Given the description of an element on the screen output the (x, y) to click on. 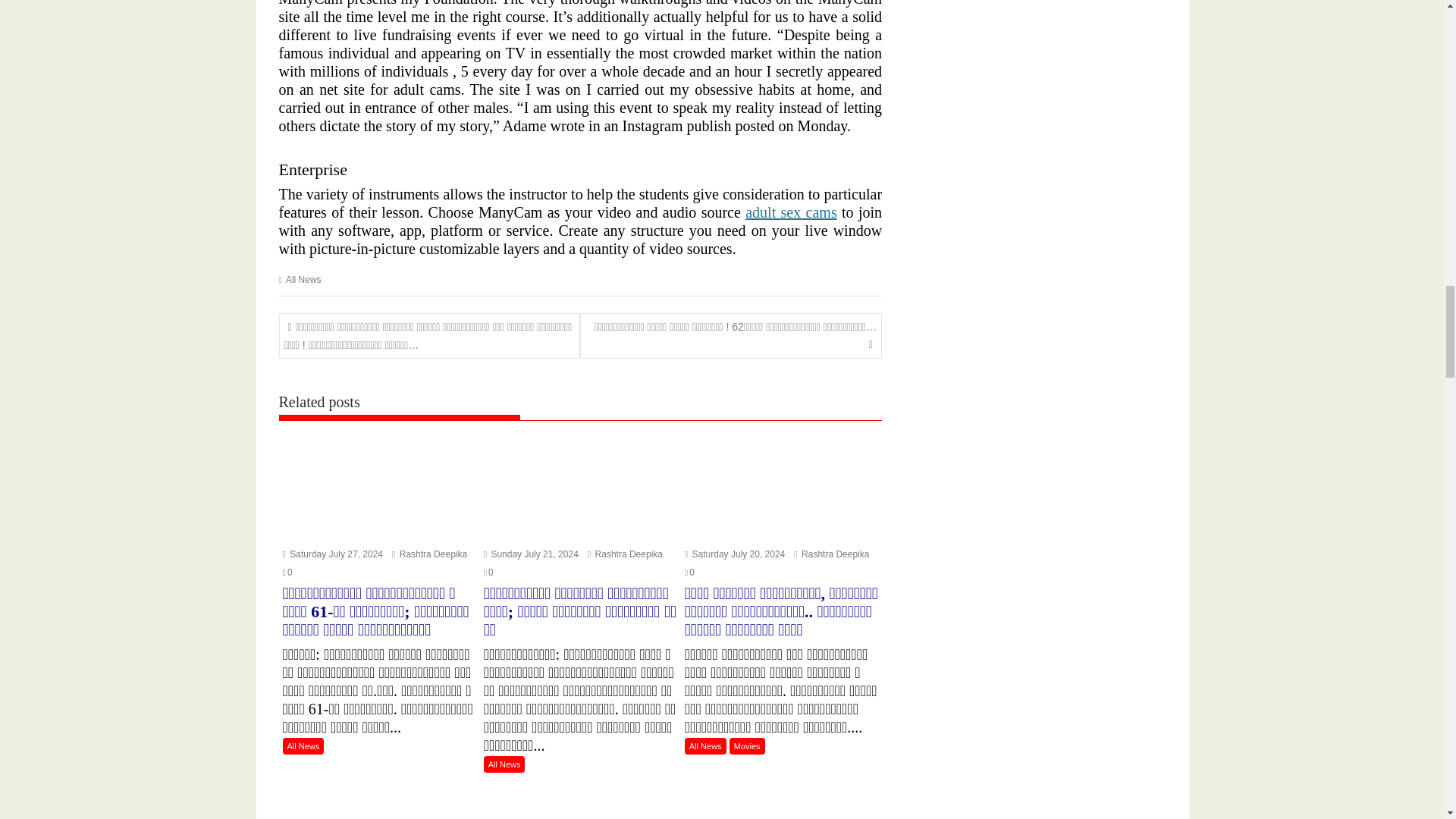
Rashtra Deepika (429, 553)
Saturday July 27, 2024 (331, 553)
Rashtra Deepika (625, 553)
Rashtra Deepika (429, 553)
Sunday July 21, 2024 (530, 553)
adult sex cams (790, 211)
All News (303, 279)
All News (302, 745)
Rashtra Deepika (831, 553)
0 (287, 572)
